Given the description of an element on the screen output the (x, y) to click on. 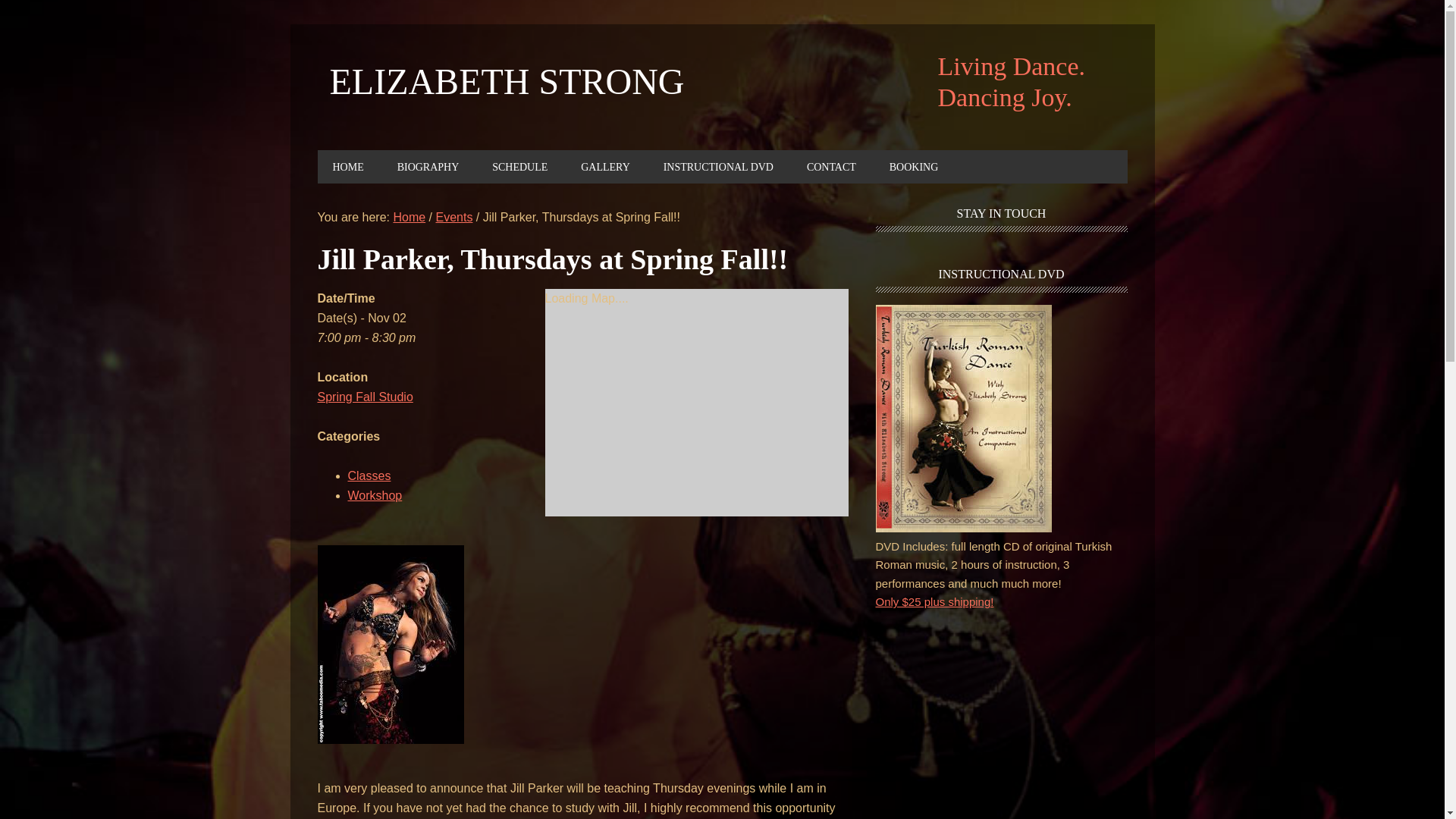
INSTRUCTIONAL DVD (718, 166)
Home (409, 216)
GALLERY (605, 166)
ELIZABETH STRONG (506, 81)
Events (453, 216)
BOOKING (914, 166)
Workshop (374, 495)
Spring Fall Studio (364, 396)
BIOGRAPHY (427, 166)
HOME (347, 166)
